Given the description of an element on the screen output the (x, y) to click on. 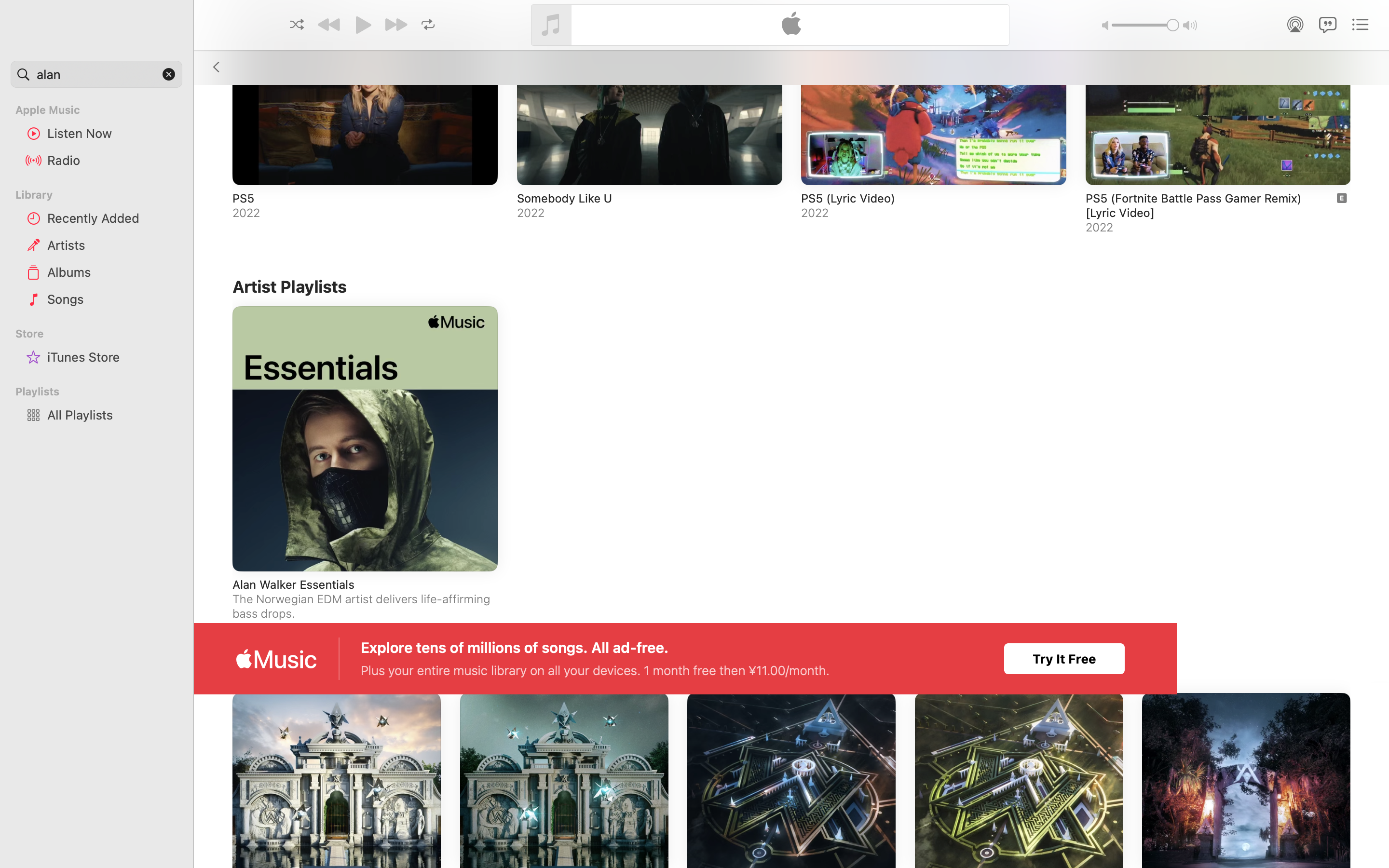
Recently Added Element type: AXStaticText (111, 217)
Store Element type: AXStaticText (101, 333)
Explore tens of millions of songs. All ad-free. Element type: AXStaticText (514, 647)
Artists Element type: AXStaticText (111, 244)
